Given the description of an element on the screen output the (x, y) to click on. 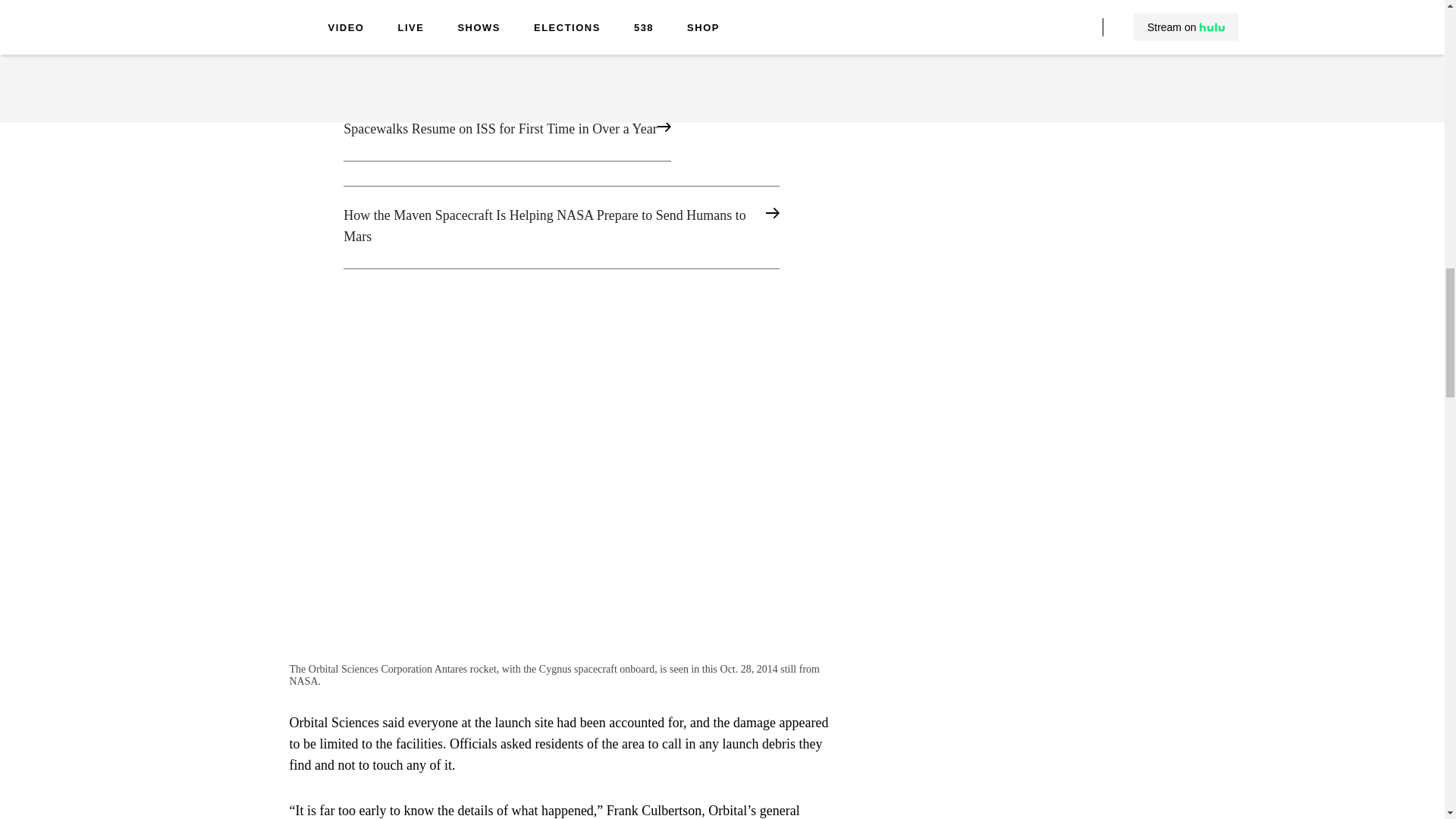
Mission Accomplished: Astronauts Complete 6 Hour Job on ISS (560, 44)
Spacewalks Resume on ISS for First Time in Over a Year (560, 130)
